Given the description of an element on the screen output the (x, y) to click on. 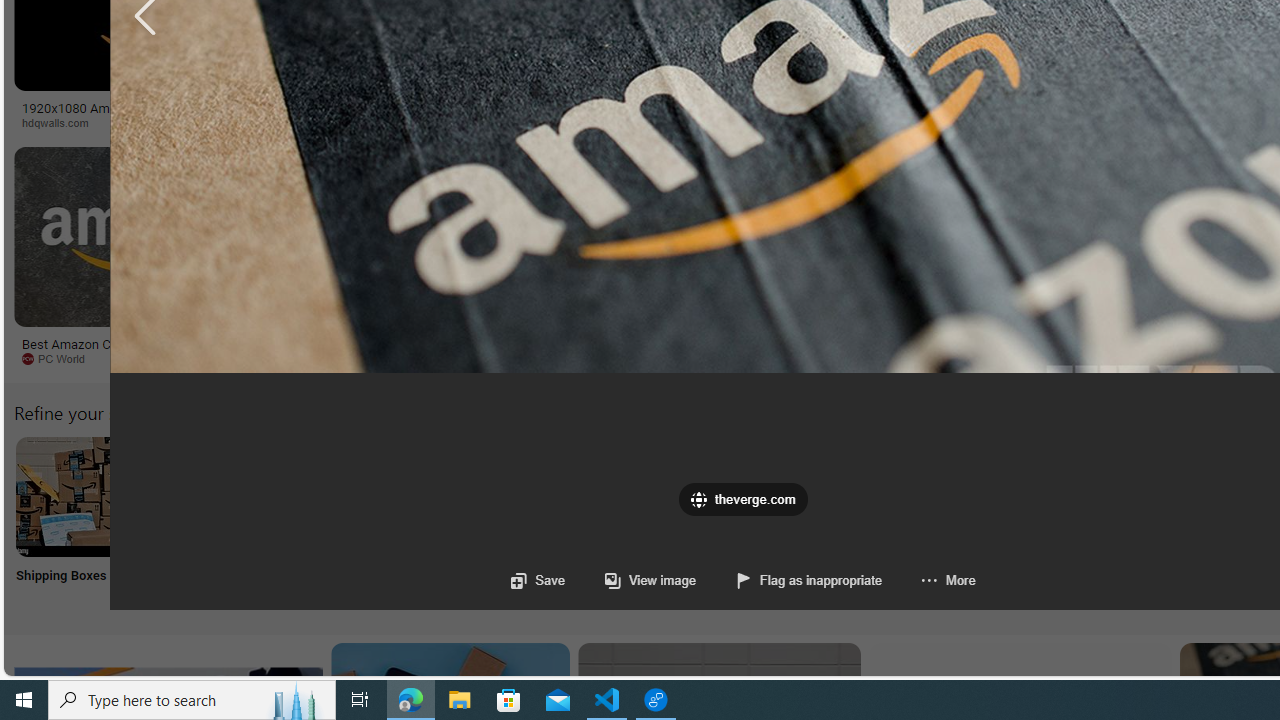
Amazon Online Shopping Search Online Shopping Search (207, 521)
View image (650, 580)
Long Island Press (1043, 121)
View image (630, 580)
More (948, 580)
